Given the description of an element on the screen output the (x, y) to click on. 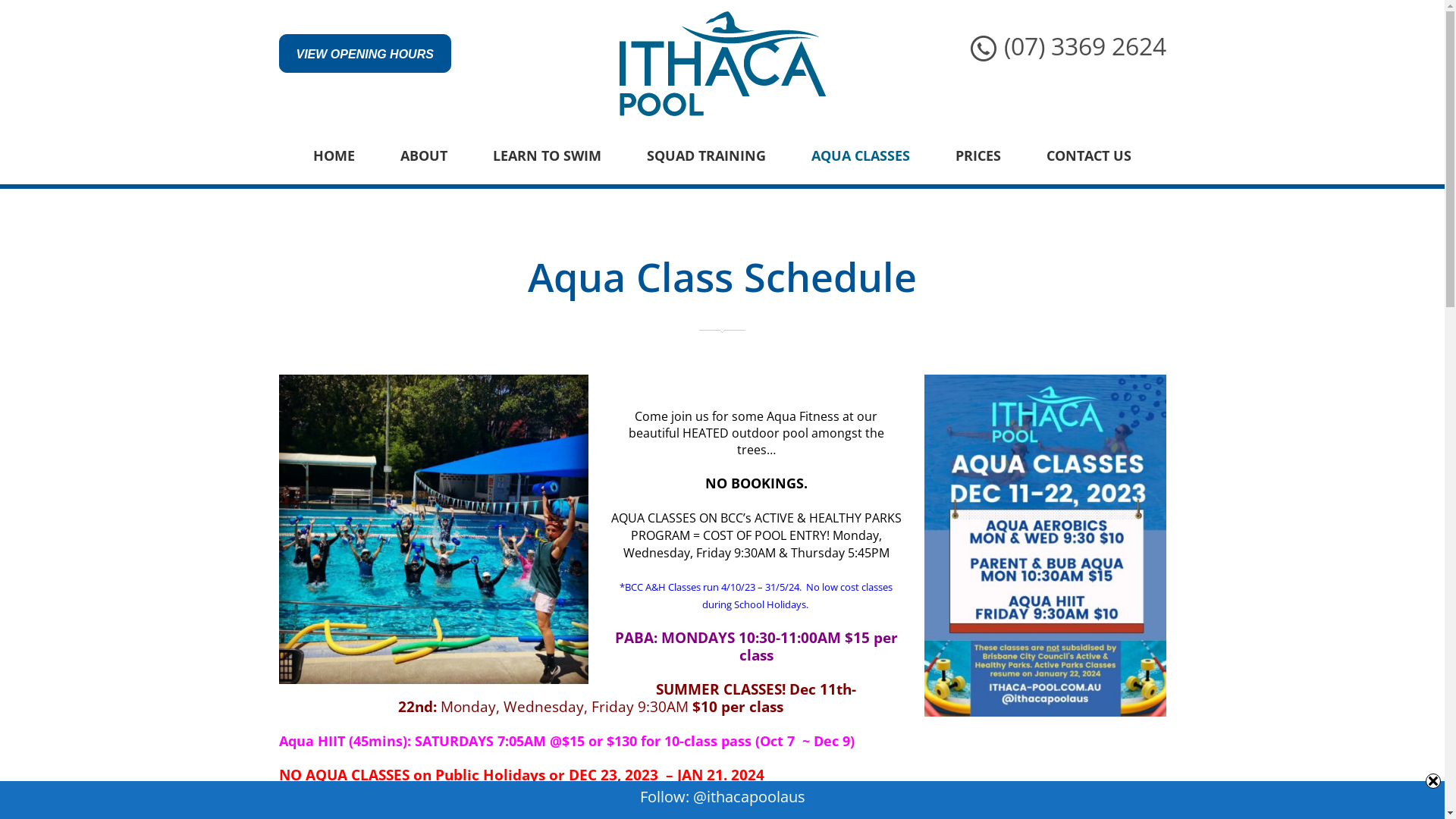
LEARN TO SWIM Element type: text (547, 155)
ABOUT Element type: text (423, 155)
HOME Element type: text (333, 155)
SQUAD TRAINING Element type: text (706, 155)
CONTACT US Element type: text (1088, 155)
AQUA CLASSES Element type: text (860, 155)
PRICES Element type: text (977, 155)
VIEW OPENING HOURS Element type: text (365, 53)
